Given the description of an element on the screen output the (x, y) to click on. 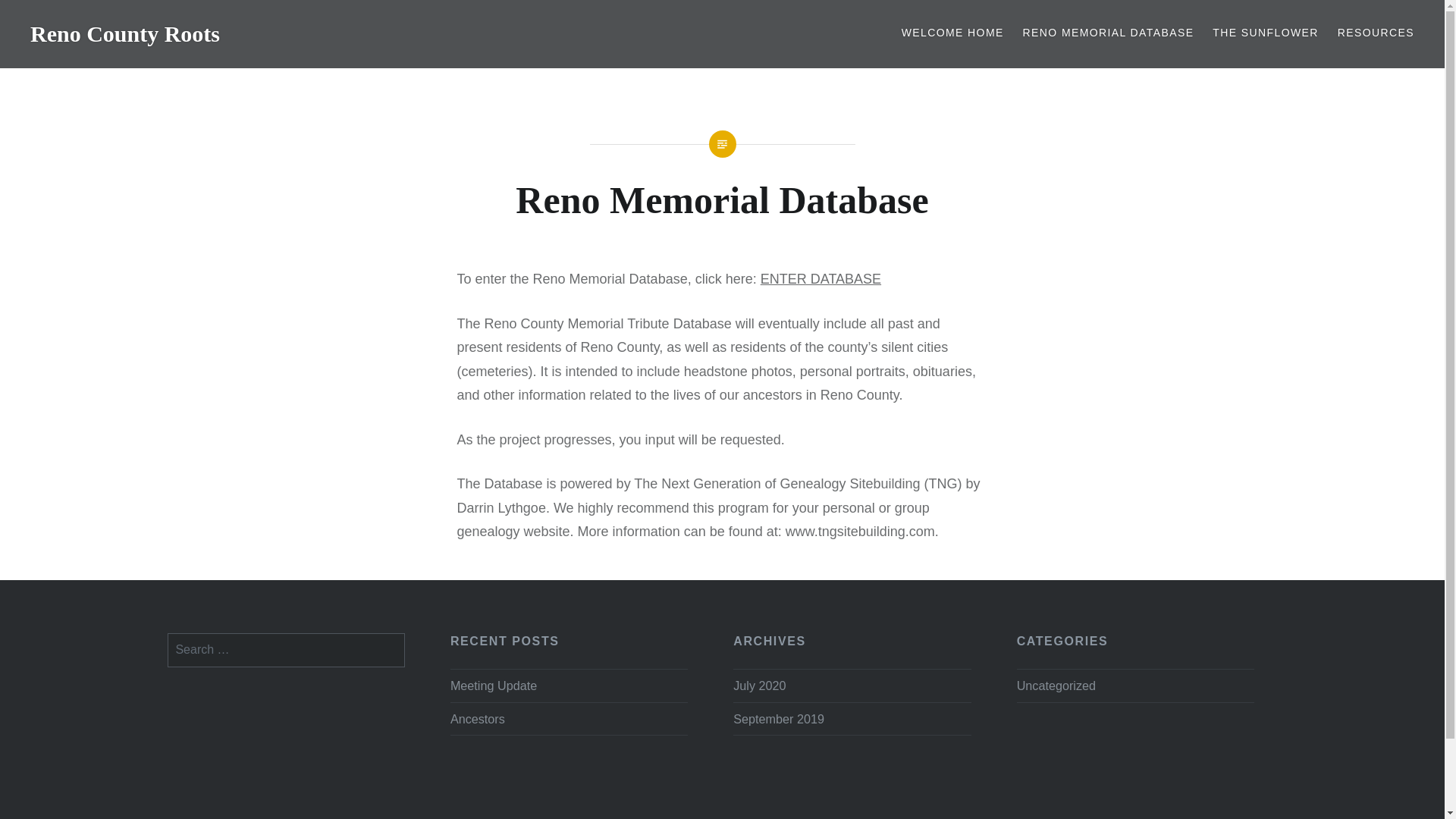
THE SUNFLOWER (1265, 32)
RESOURCES (1375, 32)
Meeting Update (568, 685)
ENTER DATABASE (820, 278)
WELCOME HOME (952, 32)
RENO MEMORIAL DATABASE (1108, 32)
Reno County Roots (124, 33)
July 2020 (759, 685)
Search (578, 19)
Ancestors (568, 718)
